Given the description of an element on the screen output the (x, y) to click on. 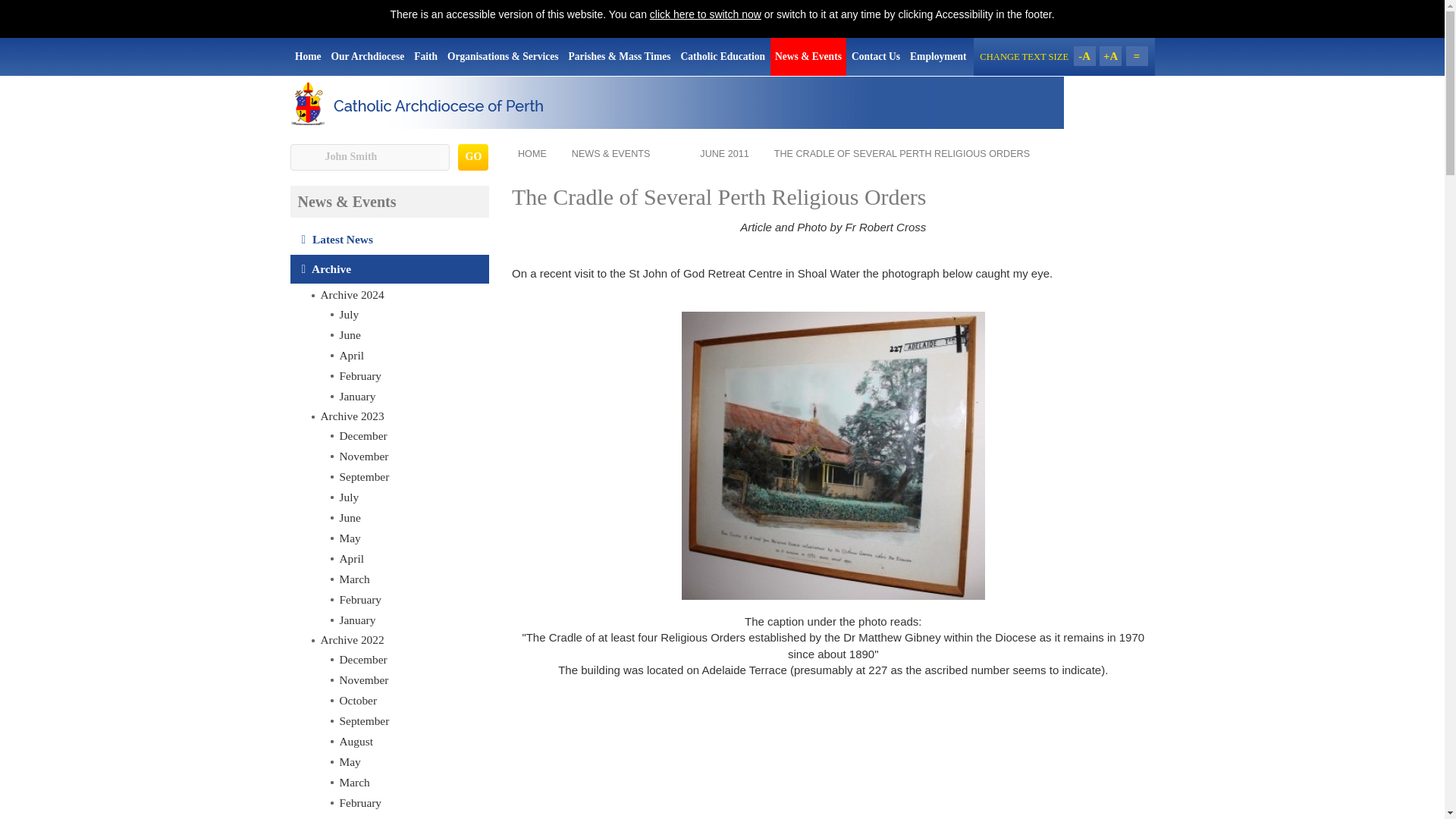
February (408, 599)
News (389, 239)
John Smith (368, 157)
News (408, 355)
News (408, 497)
News (408, 456)
click here to switch now (705, 14)
Employment (938, 56)
June (408, 517)
Archive 2024 (398, 294)
